Given the description of an element on the screen output the (x, y) to click on. 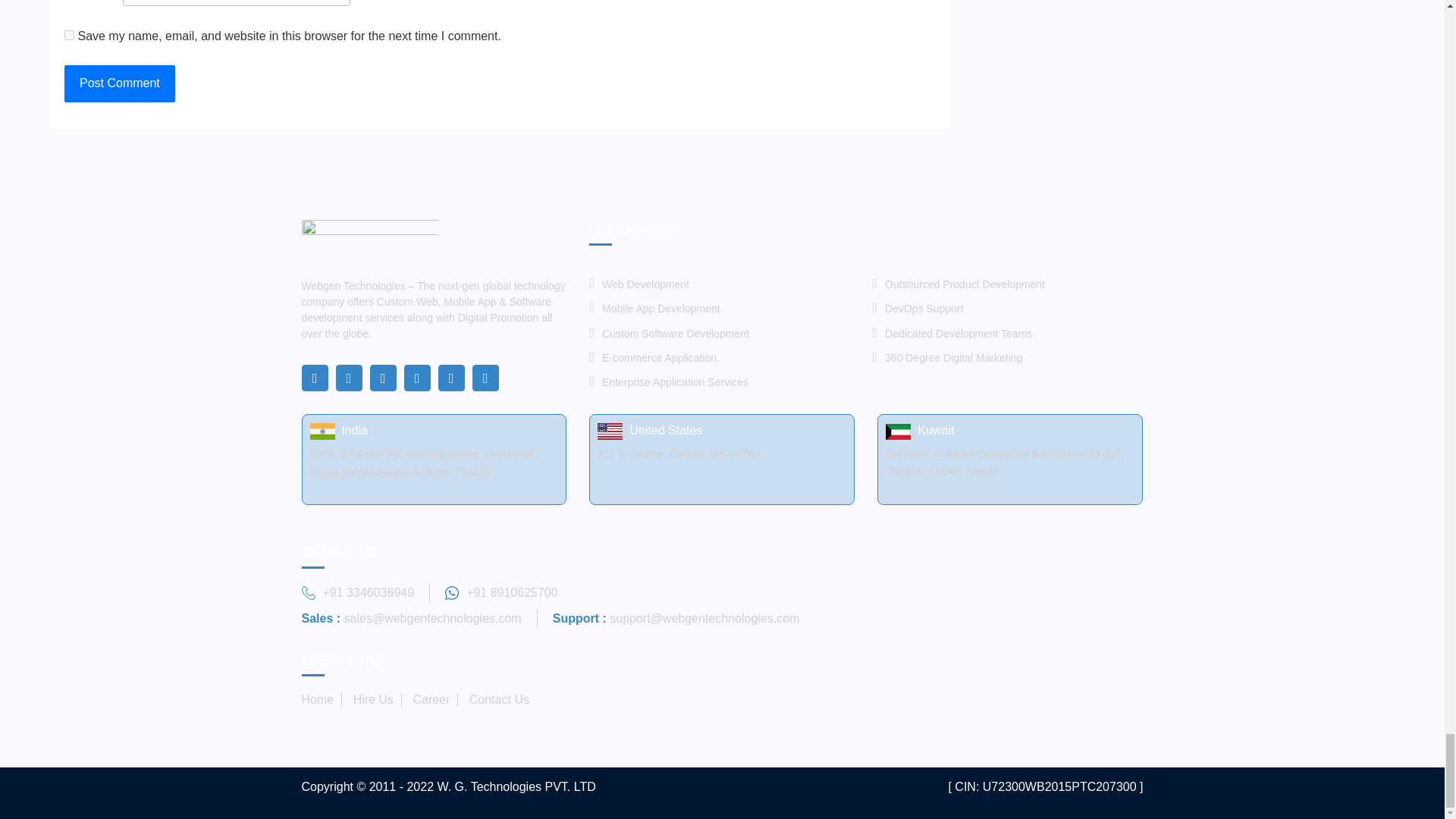
Post Comment (119, 83)
yes (69, 35)
Post Comment (119, 83)
